Given the description of an element on the screen output the (x, y) to click on. 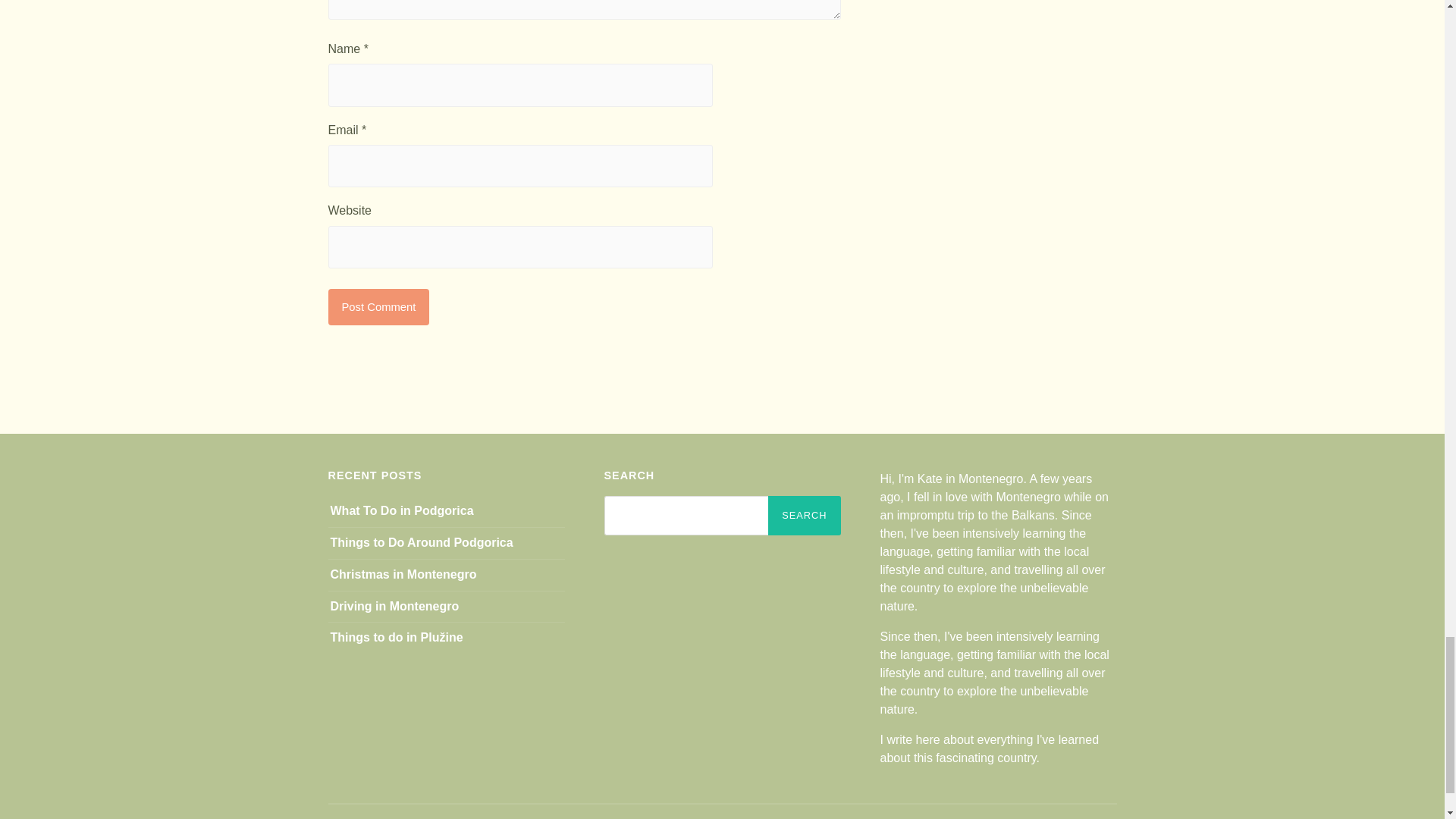
Search (804, 515)
Post Comment (378, 307)
What To Do in Podgorica (402, 510)
Post Comment (378, 307)
Christmas in Montenegro (403, 574)
Driving in Montenegro (395, 605)
Things to Do Around Podgorica (421, 542)
Search (804, 515)
